Given the description of an element on the screen output the (x, y) to click on. 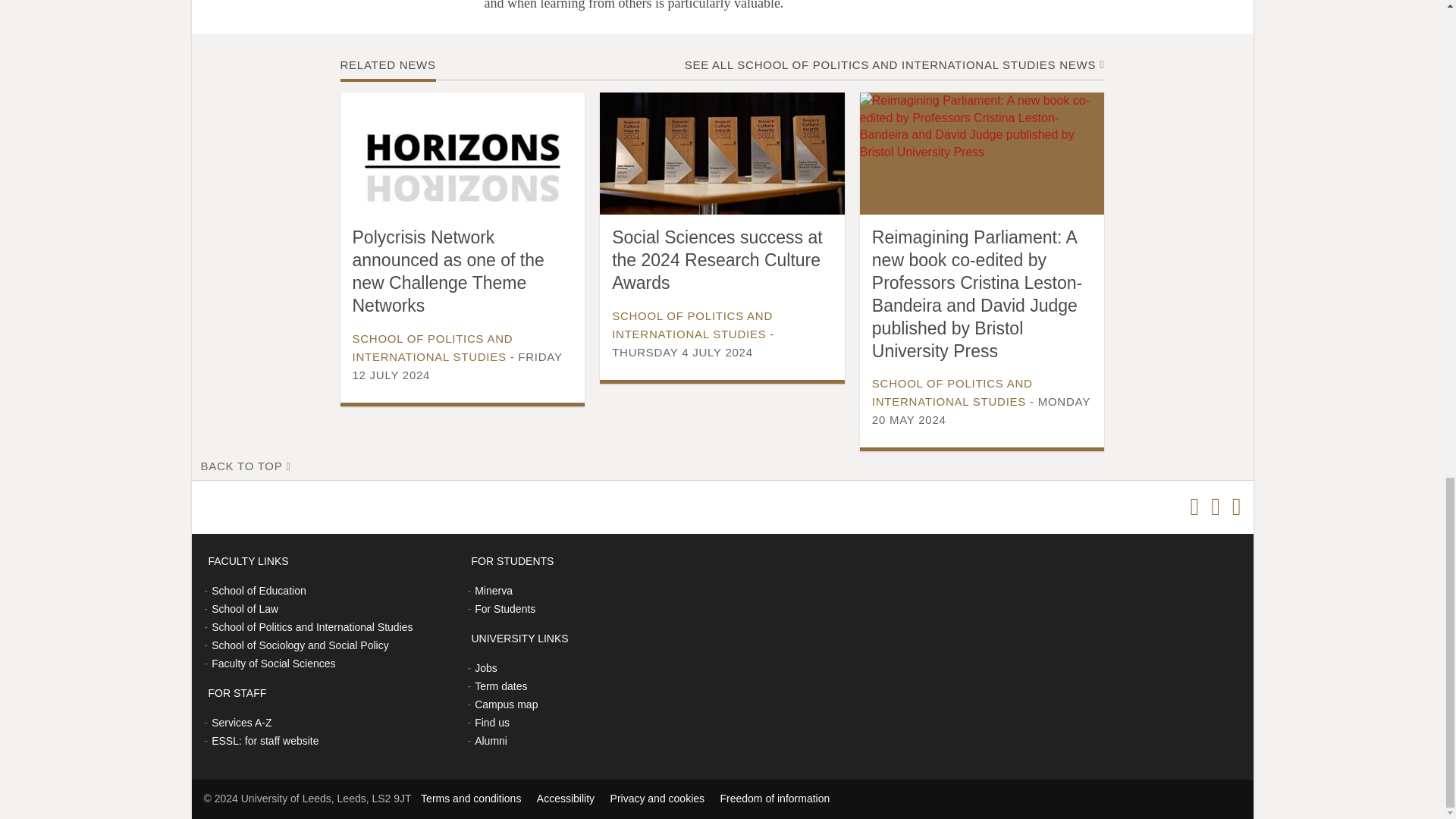
Go to Weibo page (1236, 507)
Go to Twitter page (1193, 507)
Social Sciences success at the 2024 Research Culture Awards (716, 260)
SCHOOL OF POLITICS AND INTERNATIONAL STUDIES (692, 324)
Go to Facebook page (1215, 507)
SEE ALL SCHOOL OF POLITICS AND INTERNATIONAL STUDIES NEWS (890, 64)
SCHOOL OF POLITICS AND INTERNATIONAL STUDIES (432, 347)
